Given the description of an element on the screen output the (x, y) to click on. 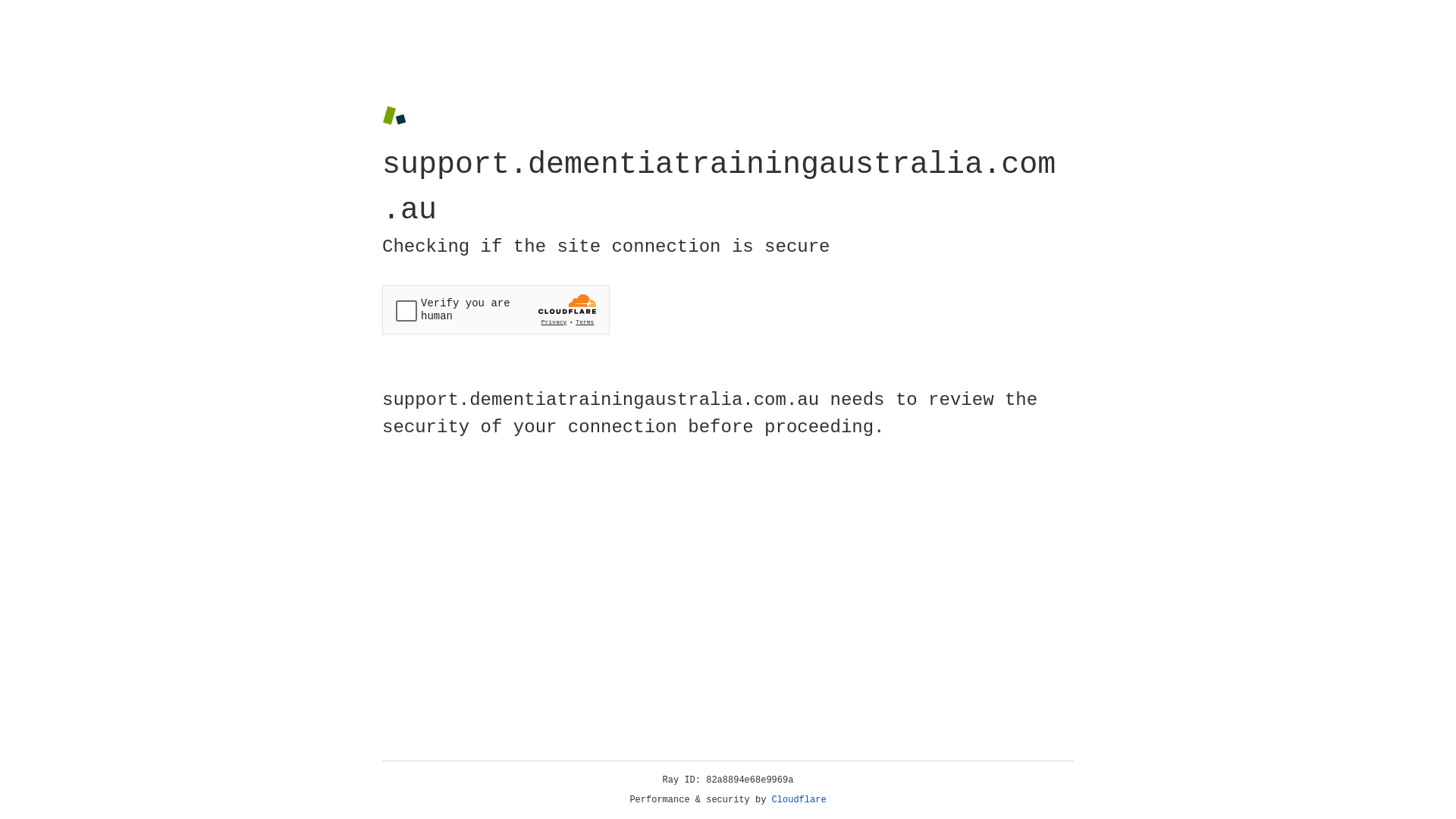
Widget containing a Cloudflare security challenge Element type: hover (495, 309)
Cloudflare Element type: text (798, 799)
